Given the description of an element on the screen output the (x, y) to click on. 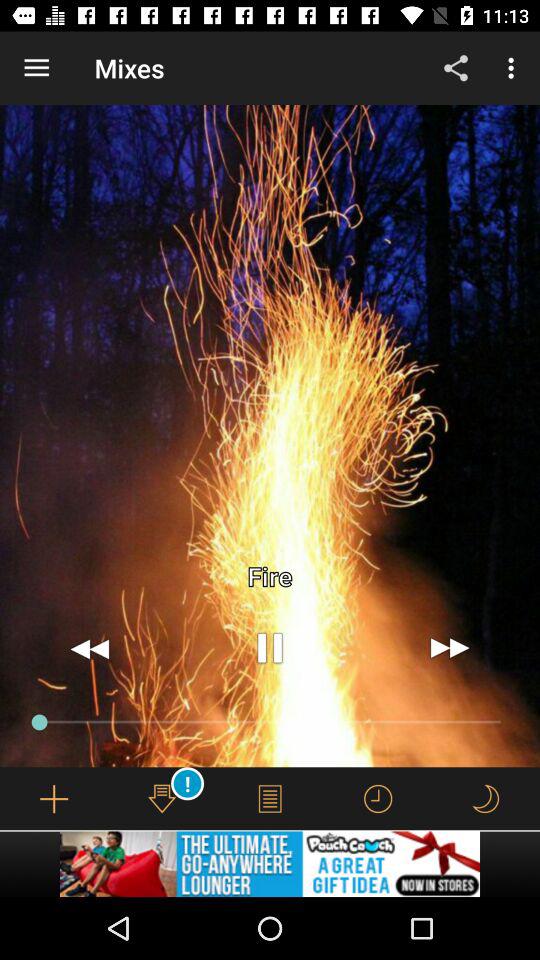
fast foward (450, 648)
